Given the description of an element on the screen output the (x, y) to click on. 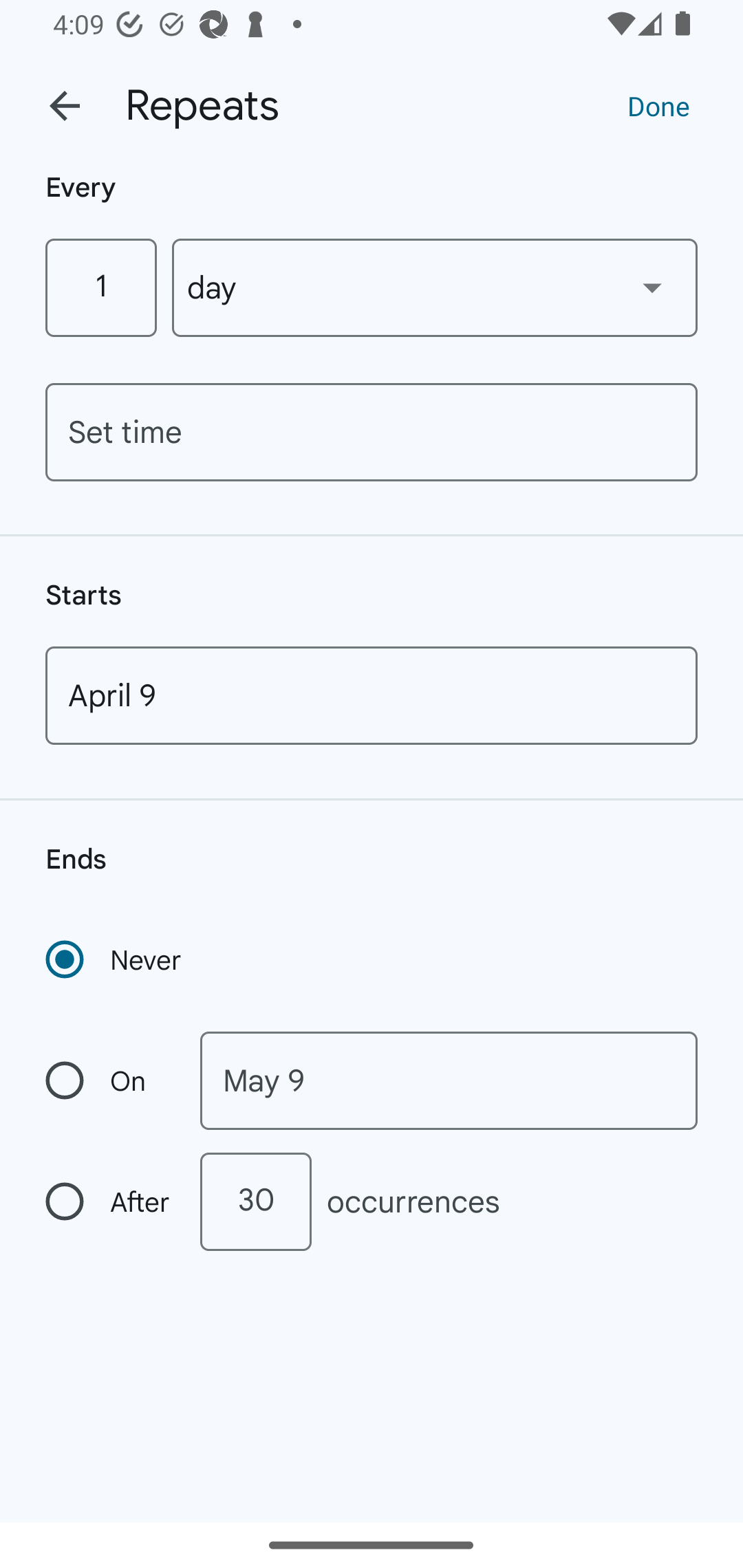
Back (64, 105)
Done (658, 105)
1 (100, 287)
day (434, 287)
Show dropdown menu (652, 286)
Set time (371, 431)
April 9 (371, 695)
Never Recurrence never ends (115, 959)
May 9 (448, 1080)
On Recurrence ends on a specific date (109, 1080)
30 (255, 1201)
